Given the description of an element on the screen output the (x, y) to click on. 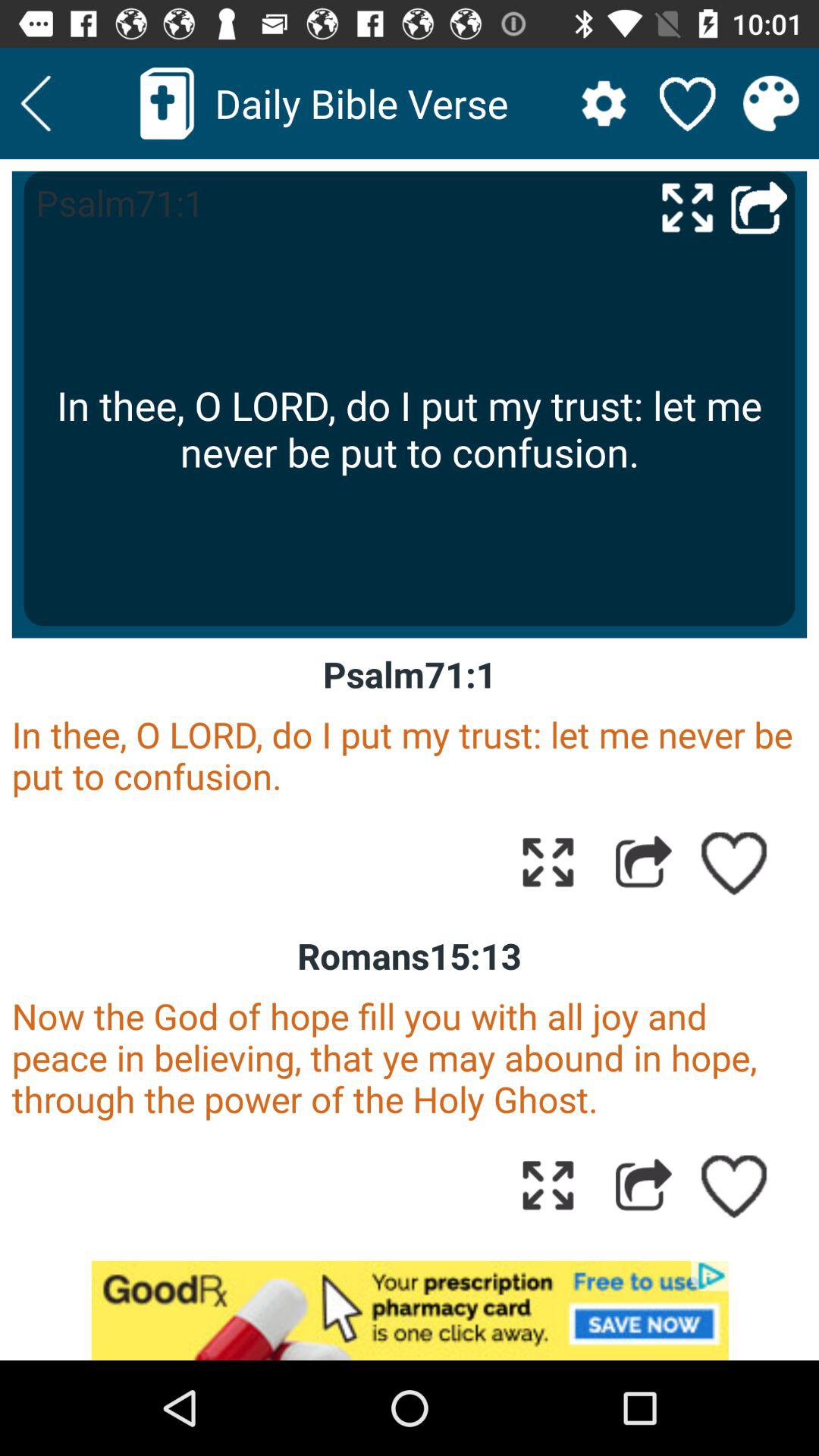
add to favorite (735, 861)
